Given the description of an element on the screen output the (x, y) to click on. 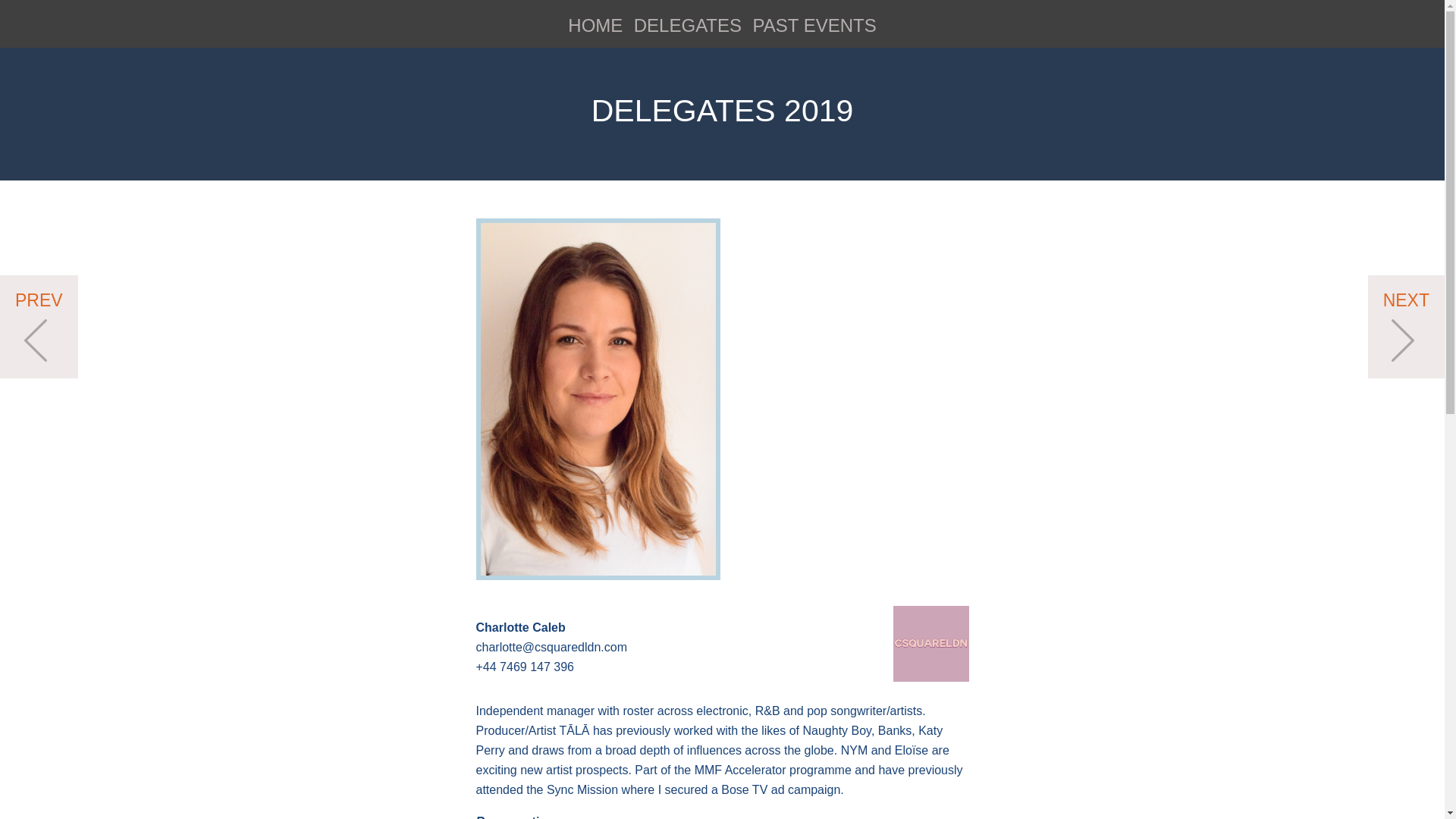
DELEGATES (687, 25)
HOME (595, 25)
PAST EVENTS (814, 25)
